Given the description of an element on the screen output the (x, y) to click on. 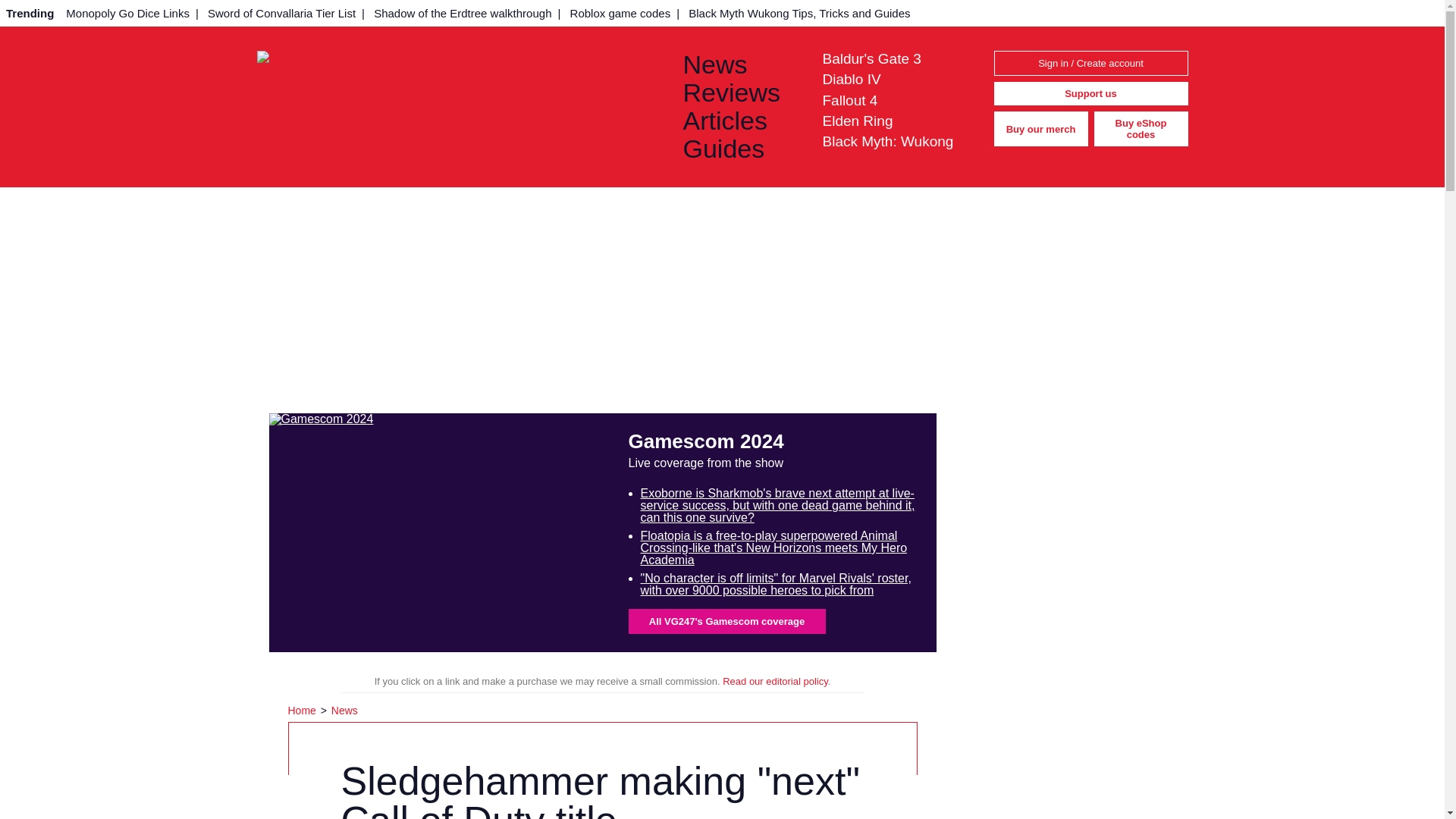
News (344, 710)
Gamescom 2024 (438, 532)
All VG247's Gamescom coverage (726, 621)
Support us (1090, 93)
News (739, 64)
Shadow of the Erdtree walkthrough (462, 13)
Shadow of the Erdtree walkthrough (462, 13)
Elden Ring (857, 120)
Black Myth: Wukong (887, 141)
Guides (739, 148)
